Given the description of an element on the screen output the (x, y) to click on. 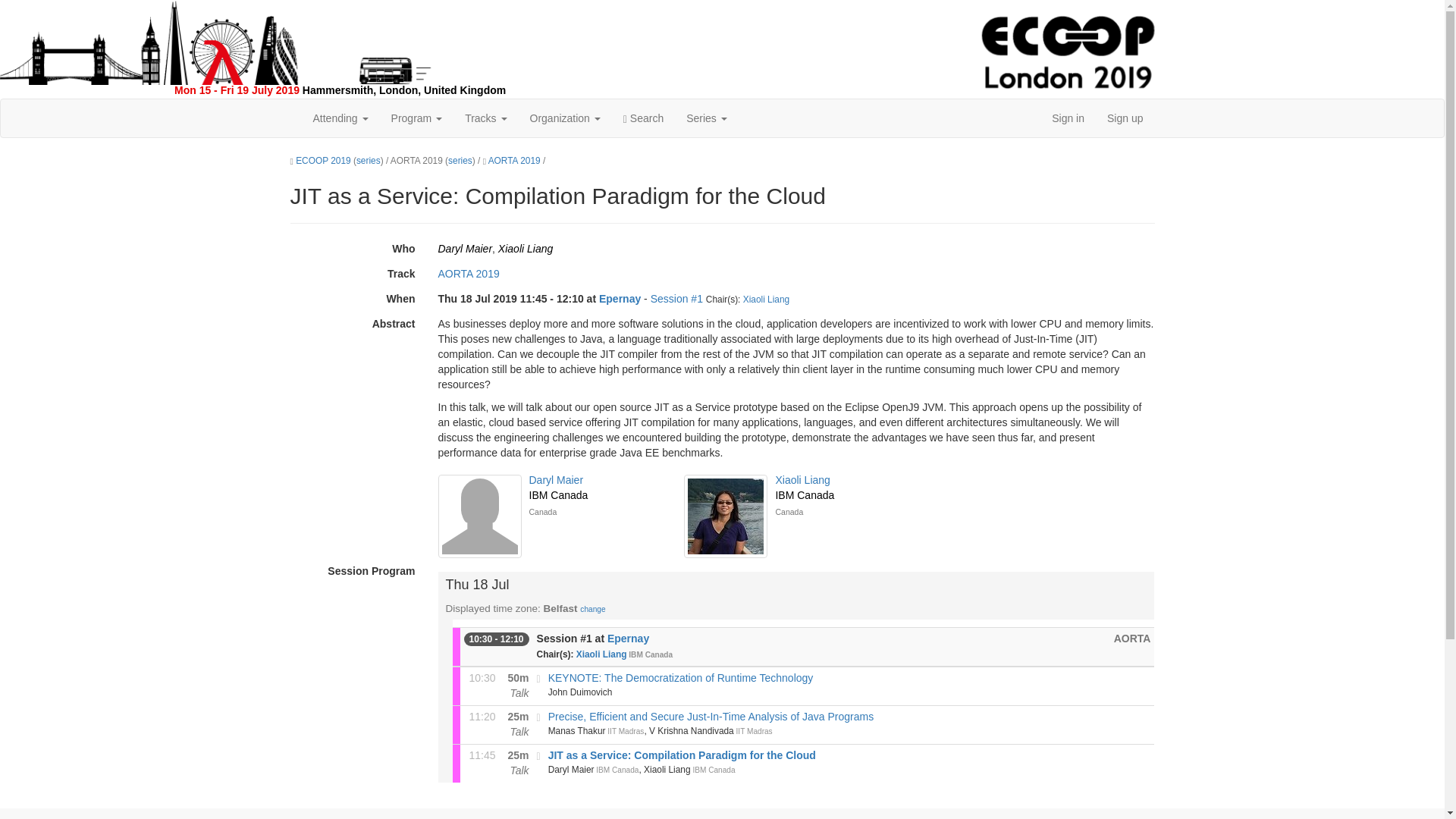
Attending (340, 118)
Program (417, 118)
Tracks (485, 118)
Hammersmith, London, United Kingdom (403, 90)
